Given the description of an element on the screen output the (x, y) to click on. 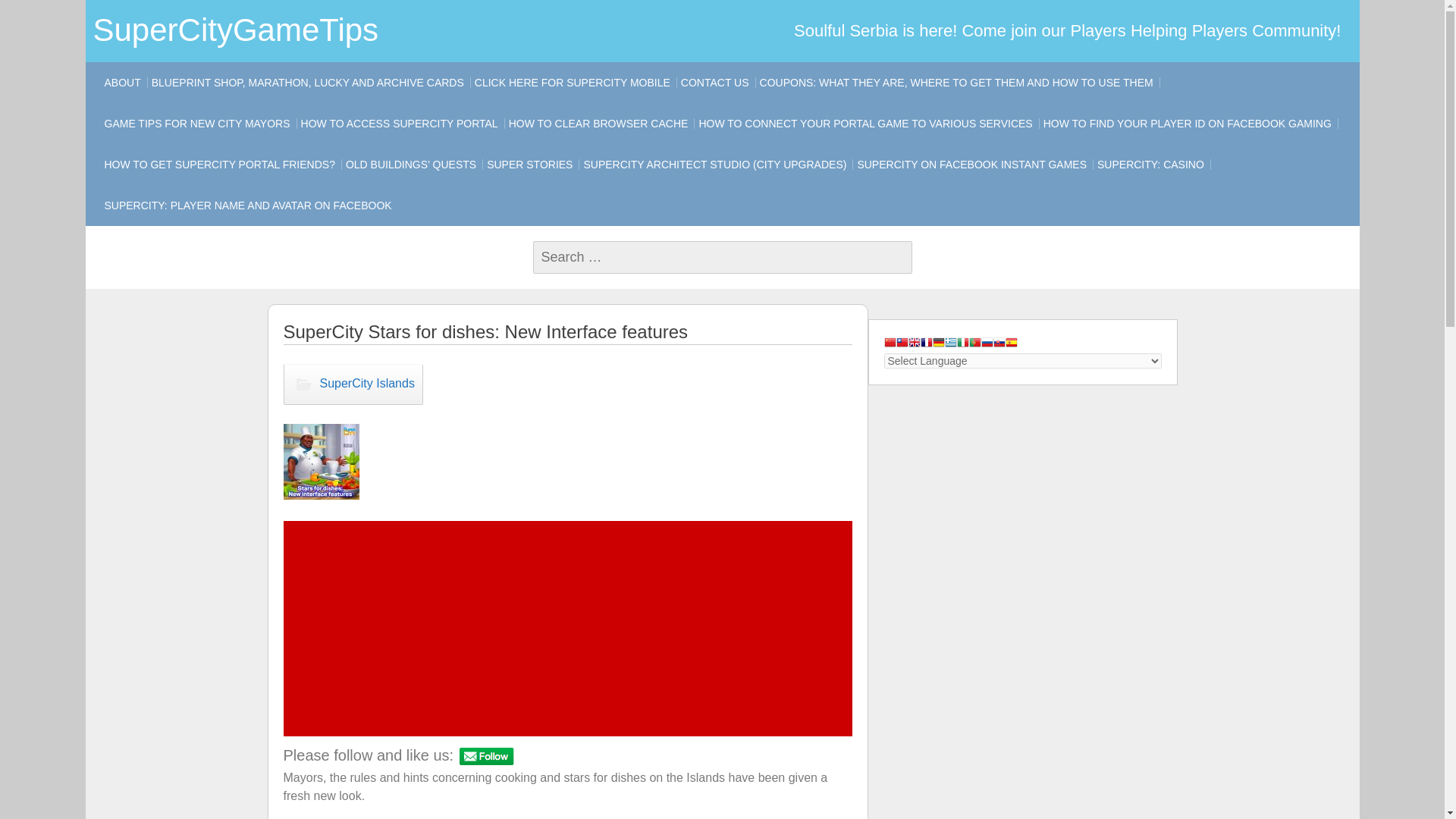
Search (38, 13)
CONTACT US (714, 82)
ABOUT (122, 82)
SUPERCITY: CASINO (1150, 164)
HOW TO GET SUPERCITY PORTAL FRIENDS? (218, 164)
SUPERCITY ON FACEBOOK INSTANT GAMES (971, 164)
GAME TIPS FOR NEW CITY MAYORS (197, 123)
Advertisement (569, 628)
CLICK HERE FOR SUPERCITY MOBILE (572, 82)
